Given the description of an element on the screen output the (x, y) to click on. 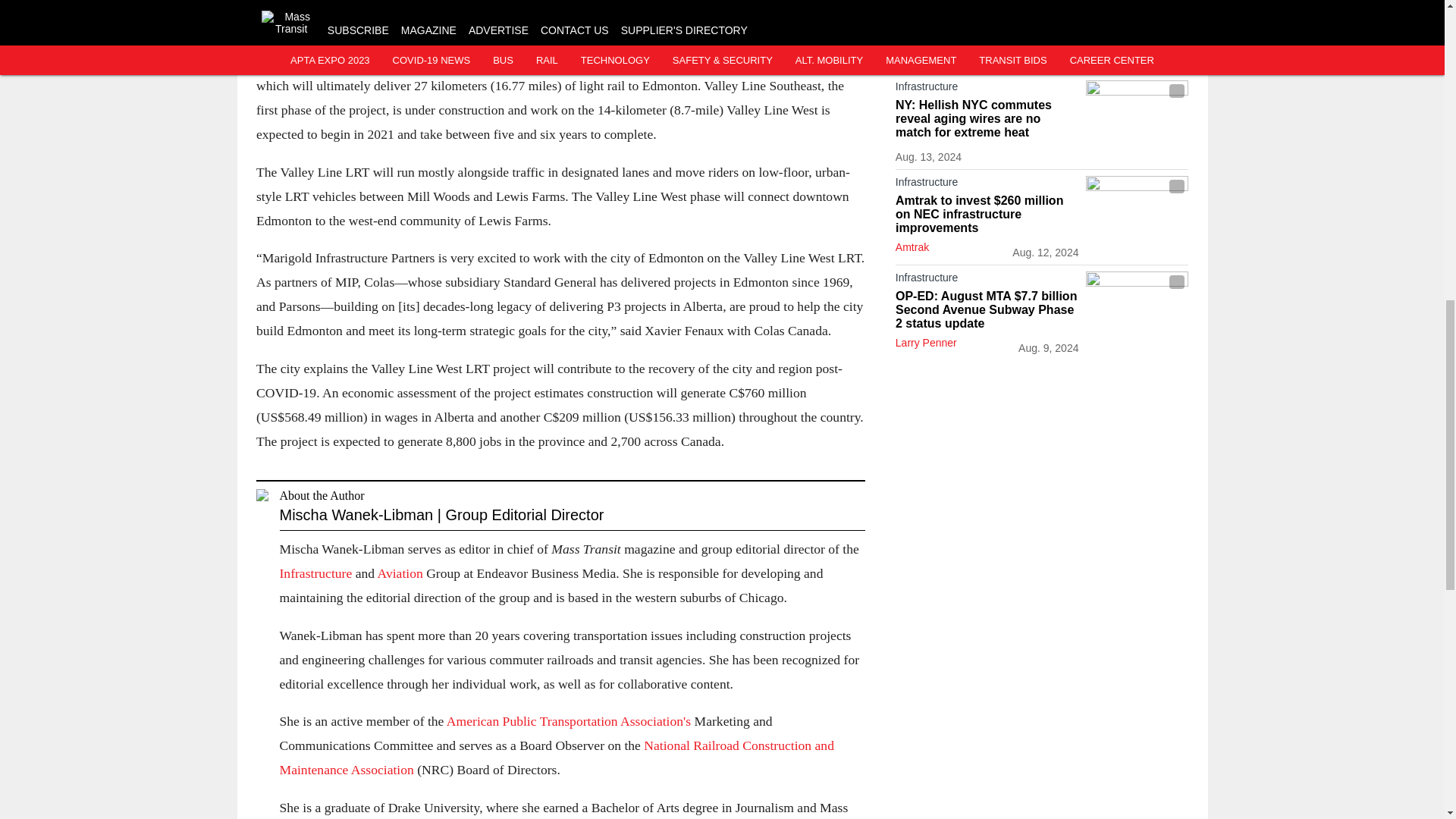
Aviation (401, 572)
Infrastructure (317, 572)
National Railroad Construction and Maintenance Association (555, 757)
American Public Transportation Association's (568, 720)
